Given the description of an element on the screen output the (x, y) to click on. 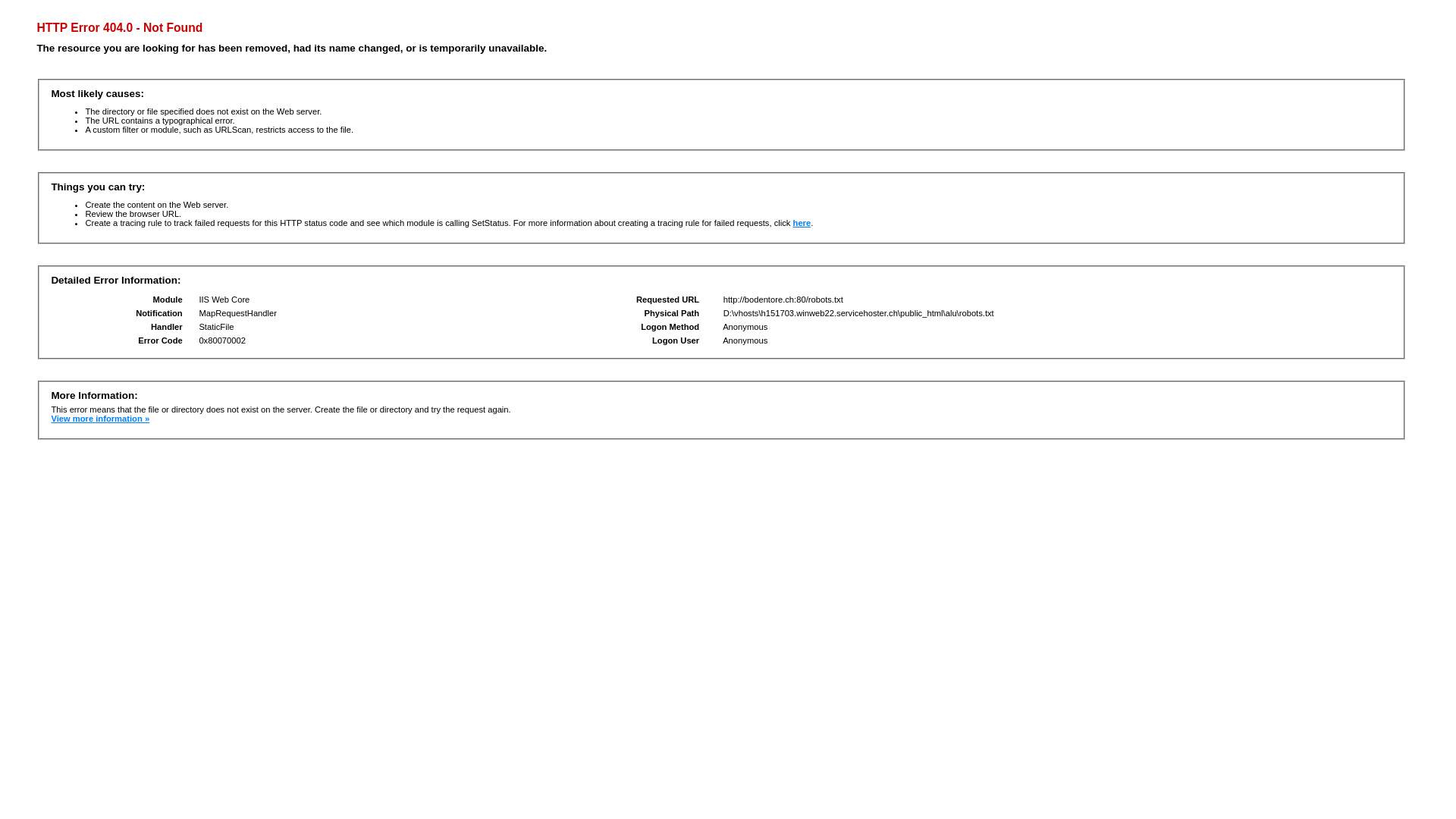
here Element type: text (802, 222)
